Given the description of an element on the screen output the (x, y) to click on. 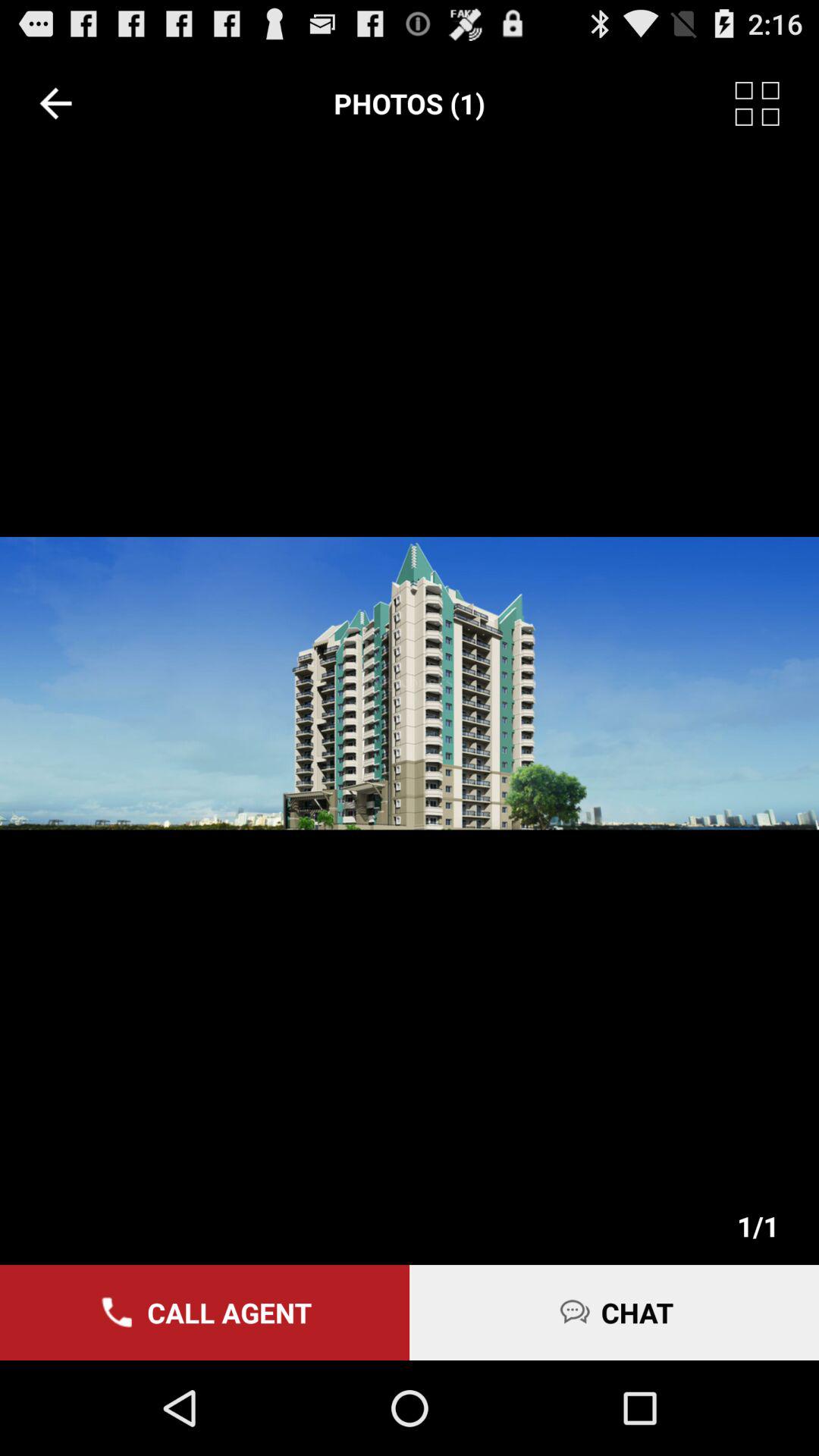
turn off item at the top left corner (55, 103)
